Given the description of an element on the screen output the (x, y) to click on. 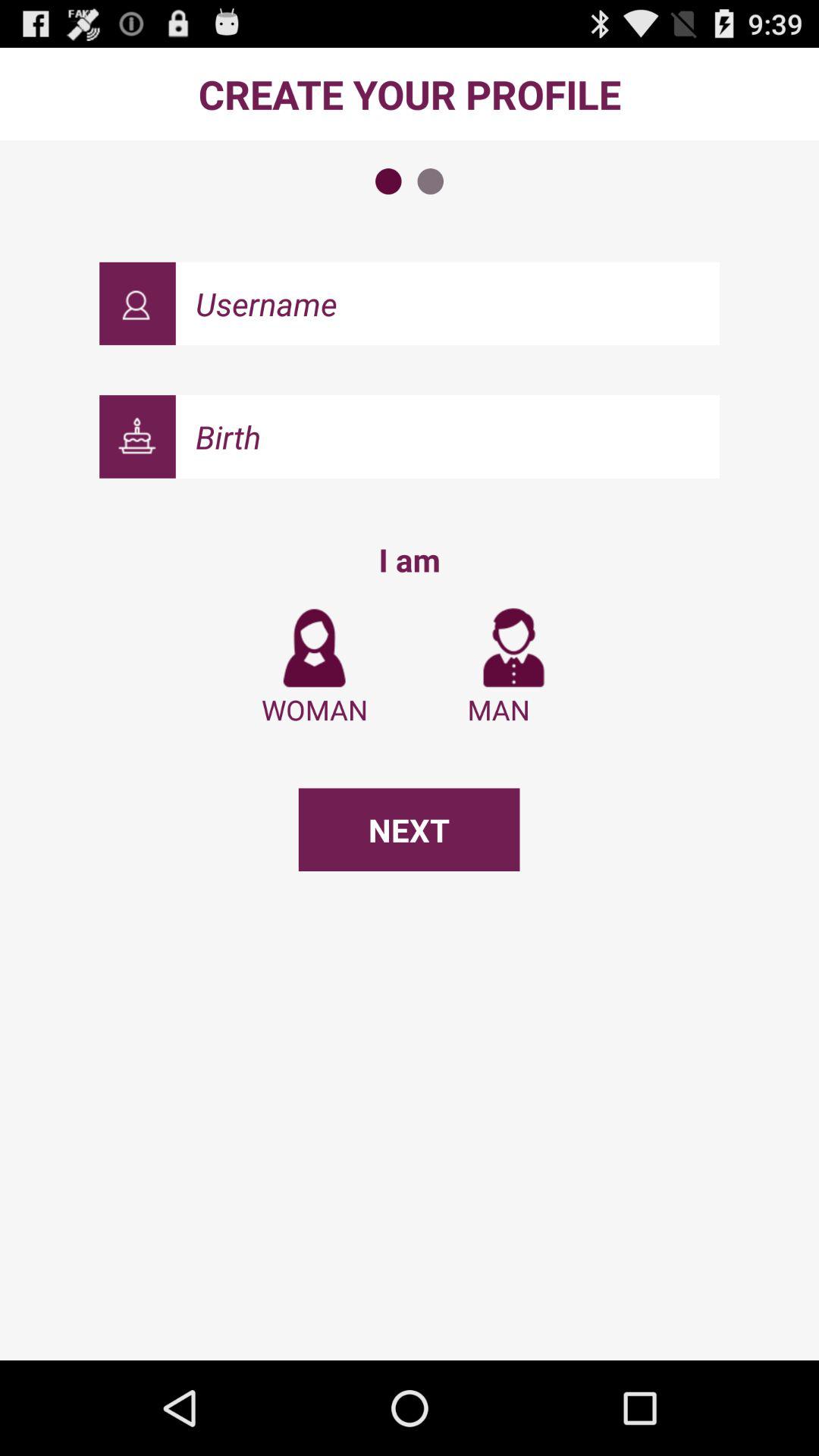
enteer username (447, 303)
